Given the description of an element on the screen output the (x, y) to click on. 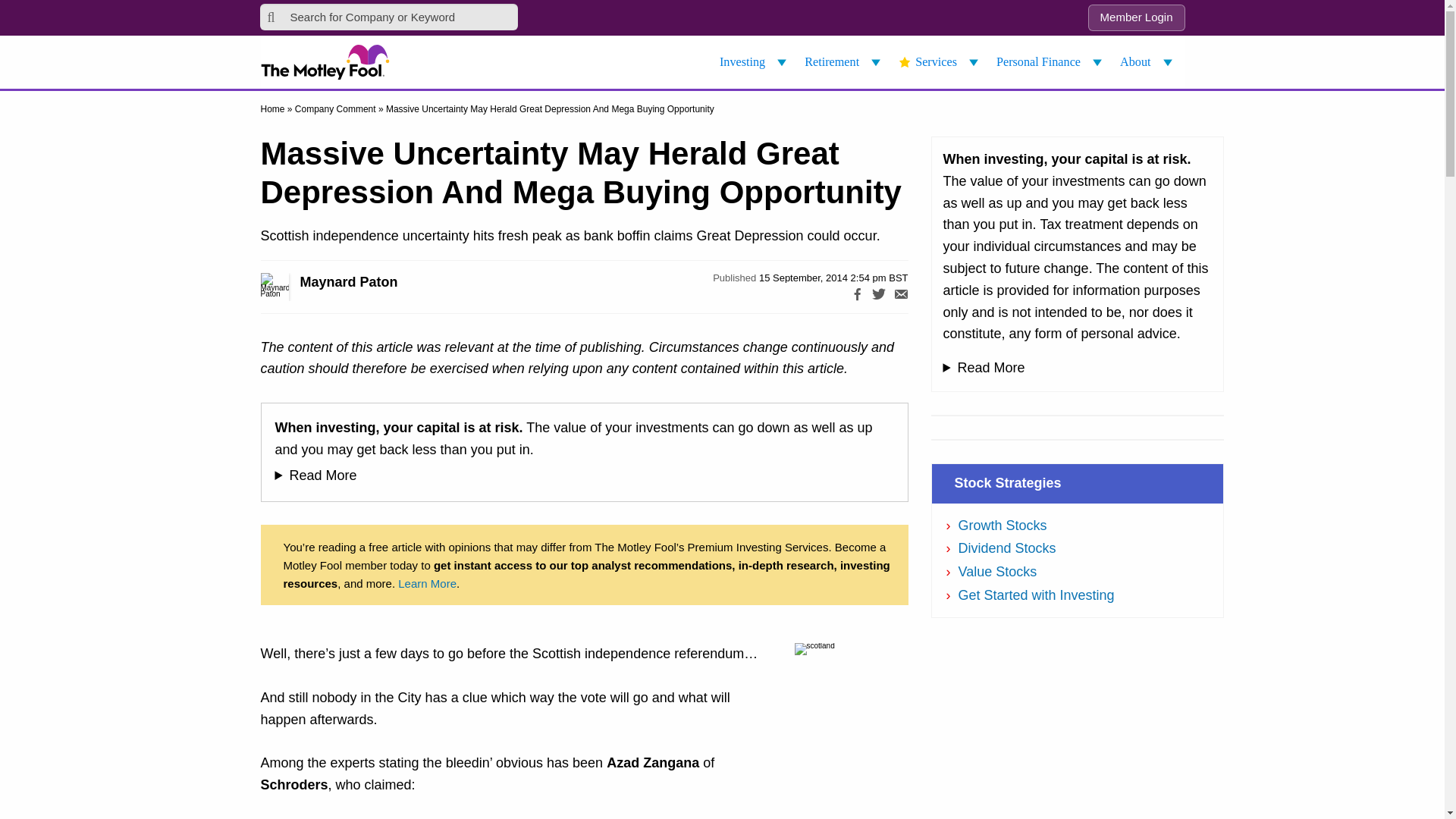
Maynard Paton (290, 286)
Services (941, 62)
Retirement (844, 62)
Member Login (1136, 17)
Investing (755, 62)
